Given the description of an element on the screen output the (x, y) to click on. 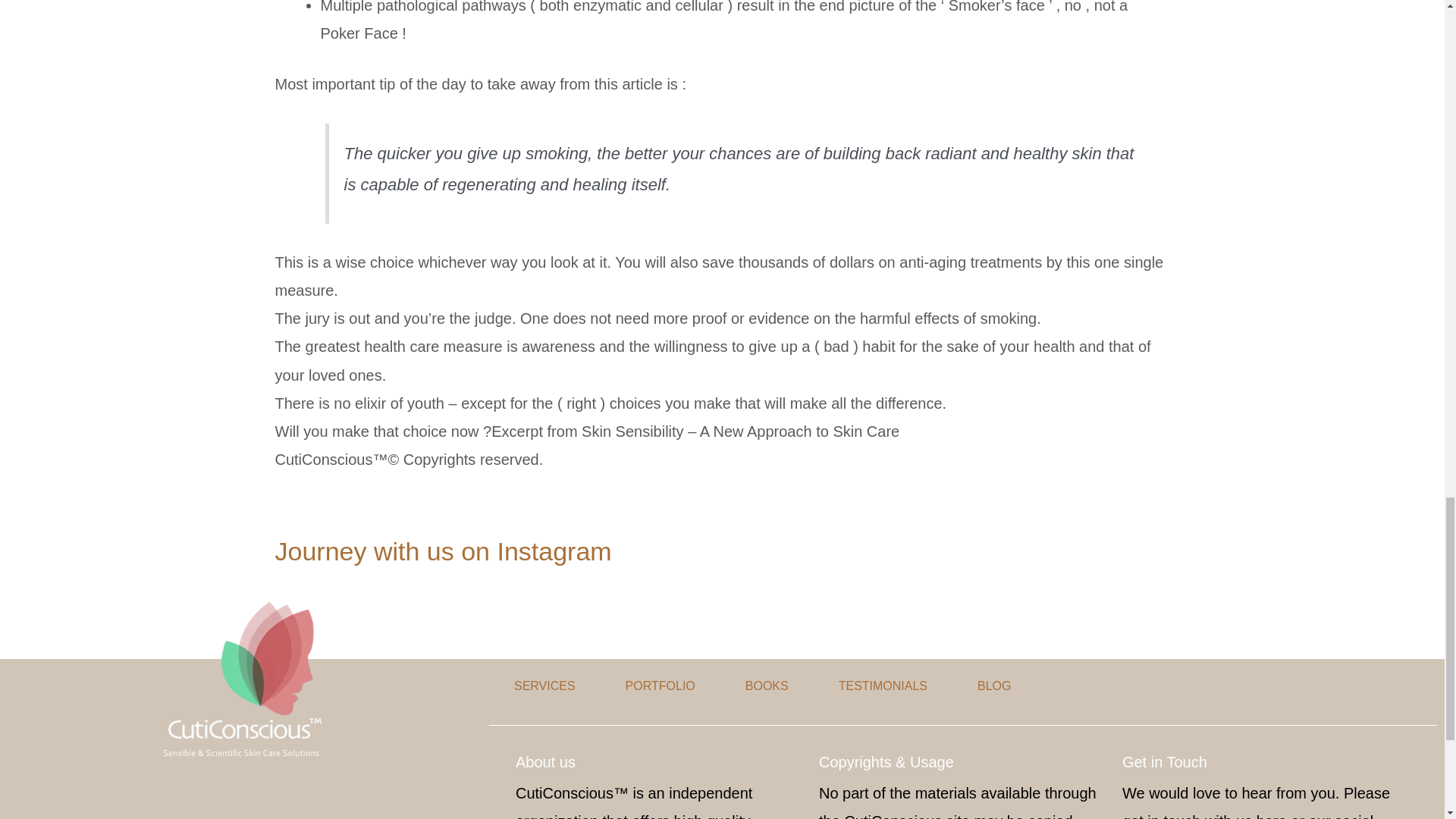
BOOKS (766, 685)
BLOG (993, 685)
TESTIMONIALS (882, 685)
PORTFOLIO (659, 685)
SERVICES (544, 685)
Journey with us on Instagram (443, 551)
